Given the description of an element on the screen output the (x, y) to click on. 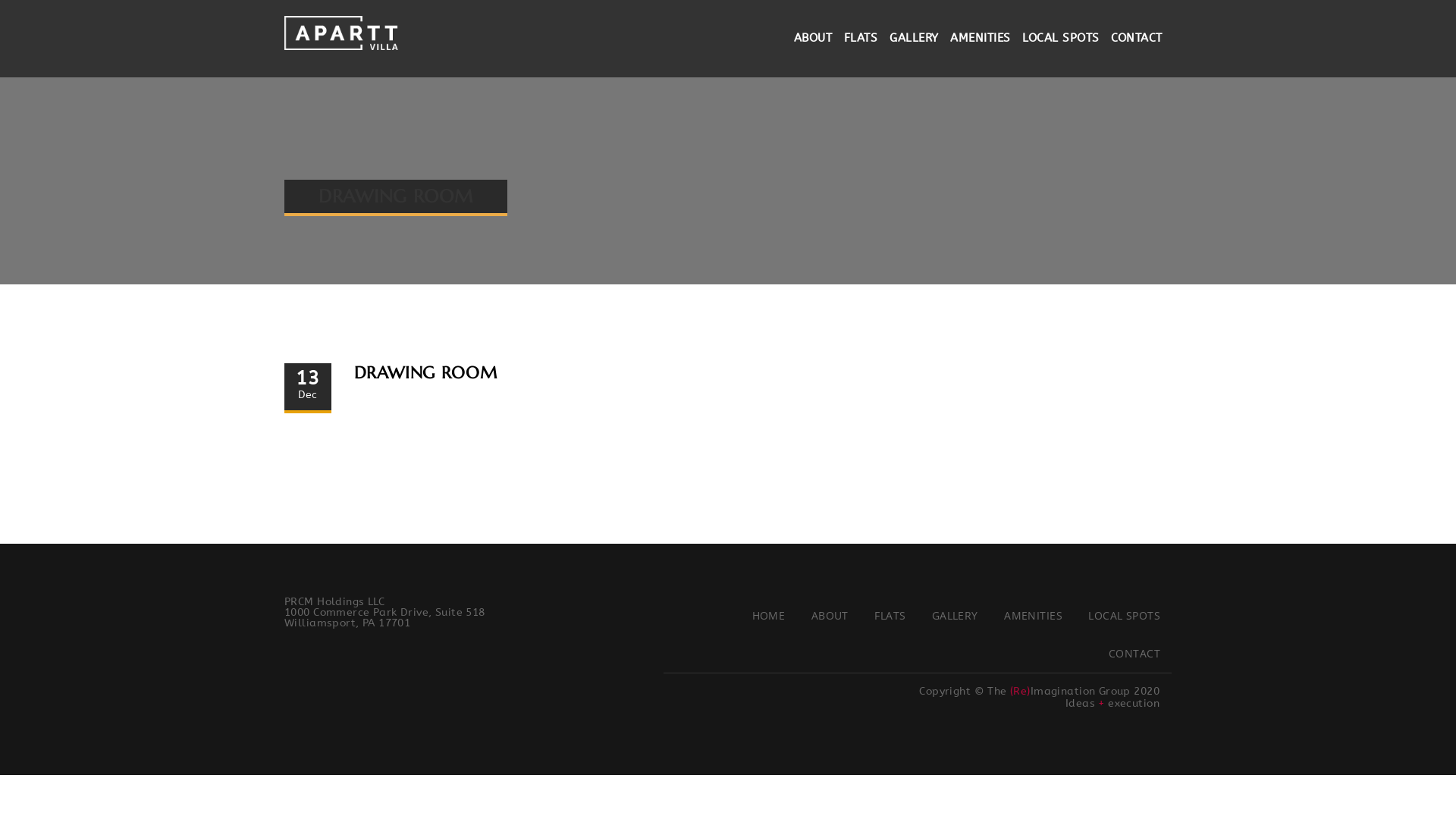
LOCAL SPOTS Element type: text (1060, 37)
GALLERY Element type: text (913, 37)
ABOUT Element type: text (829, 615)
FLATS Element type: text (860, 37)
GALLERY Element type: text (954, 615)
CONTACT Element type: text (1134, 653)
FLATS Element type: text (889, 615)
AMENITIES Element type: text (980, 37)
HOME Element type: text (768, 615)
DRAWING ROOM Element type: text (424, 372)
CONTACT Element type: text (1135, 37)
AMENITIES Element type: text (1032, 615)
LOCAL SPOTS Element type: text (1123, 615)
ABOUT Element type: text (812, 37)
